Given the description of an element on the screen output the (x, y) to click on. 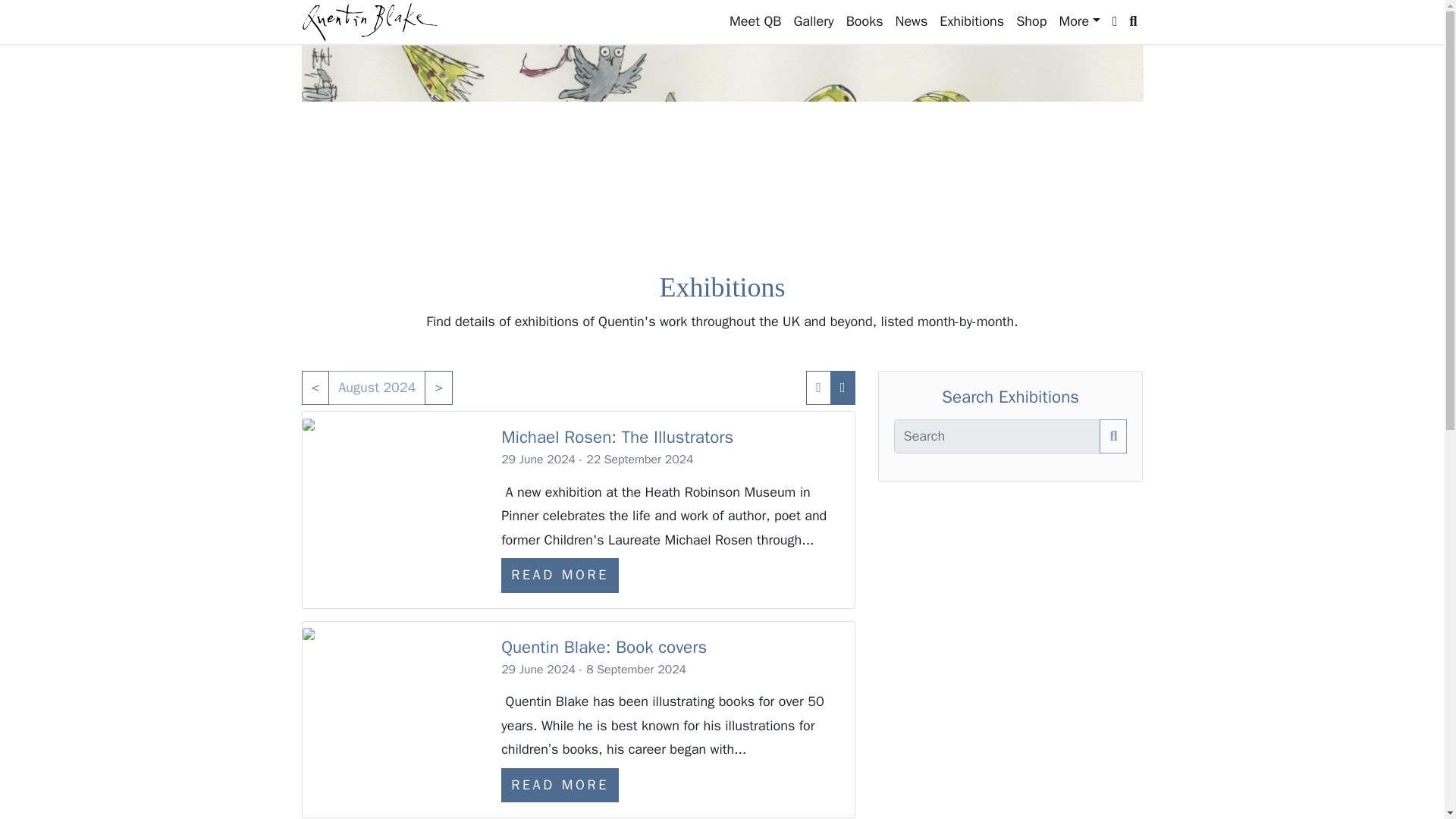
Gallery (813, 22)
August 2024 (377, 388)
More (1078, 22)
Exhibitions (971, 22)
Books (864, 22)
News (911, 22)
READ MORE (559, 785)
READ MORE (559, 574)
Shop (1031, 22)
Meet QB (755, 22)
